Given the description of an element on the screen output the (x, y) to click on. 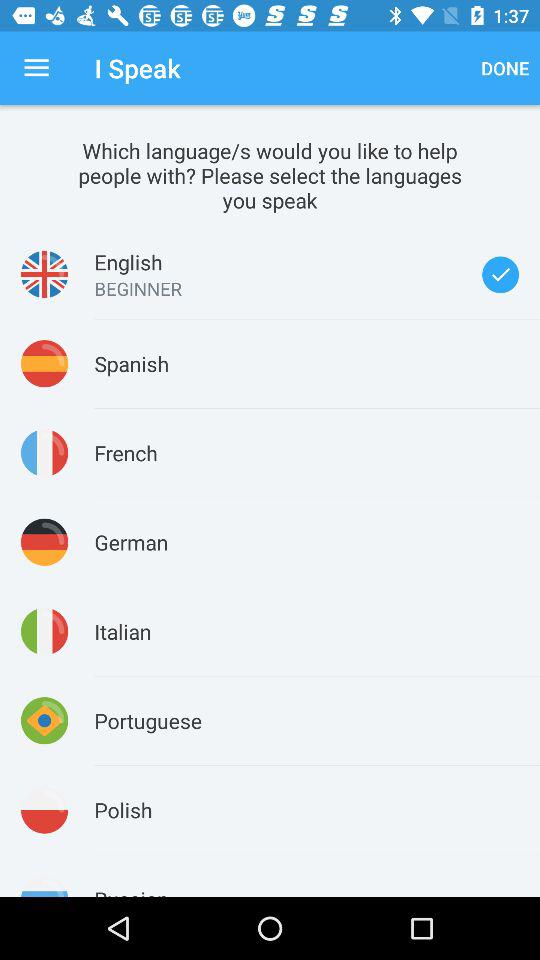
tap item above the which language s (36, 68)
